Given the description of an element on the screen output the (x, y) to click on. 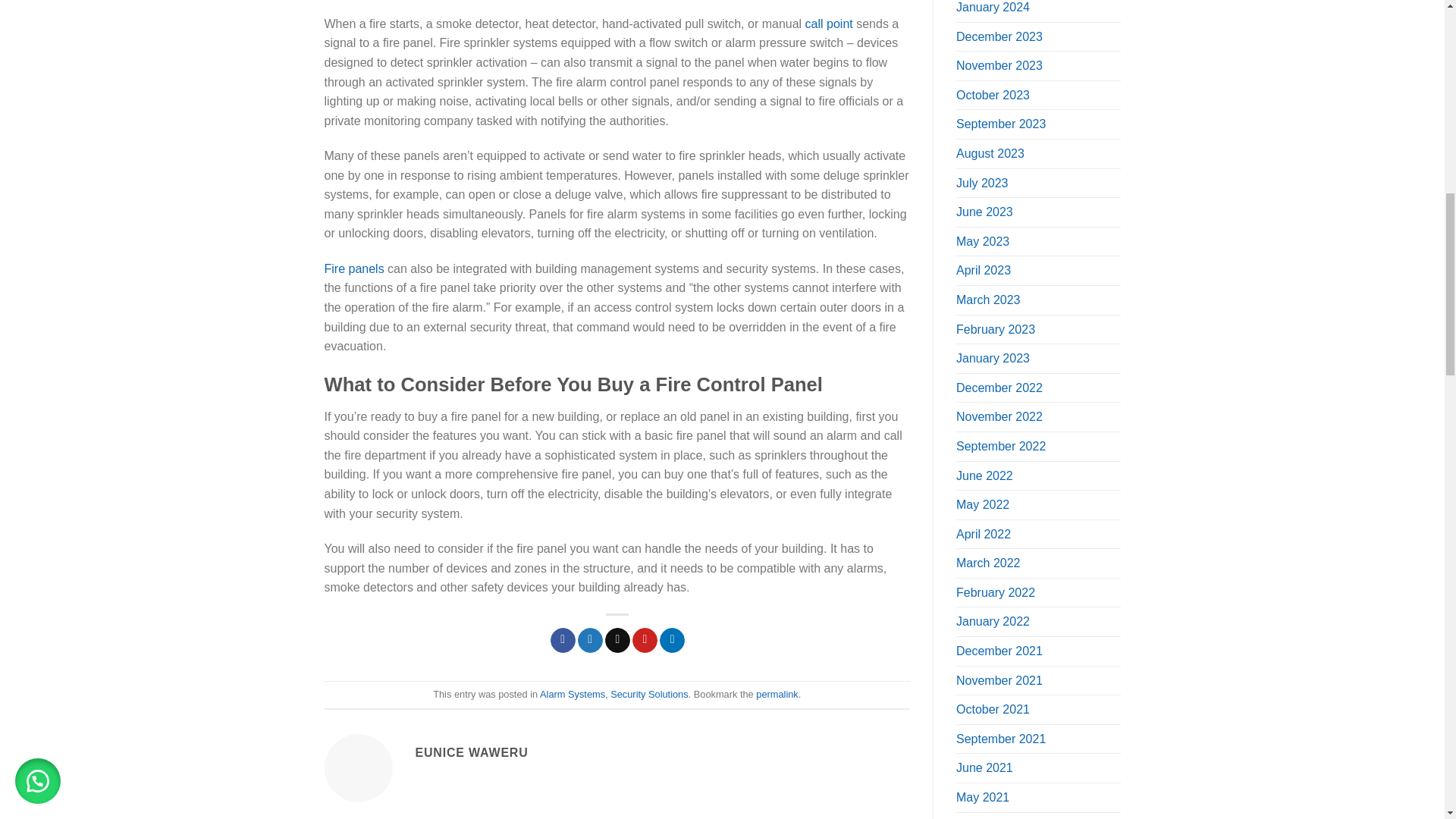
Share on LinkedIn (671, 640)
Email to a Friend (617, 640)
Share on Facebook (562, 640)
Share on Twitter (590, 640)
Permalink to What is a Fire Panel and How Does it Work? (776, 694)
Pin on Pinterest (644, 640)
